Given the description of an element on the screen output the (x, y) to click on. 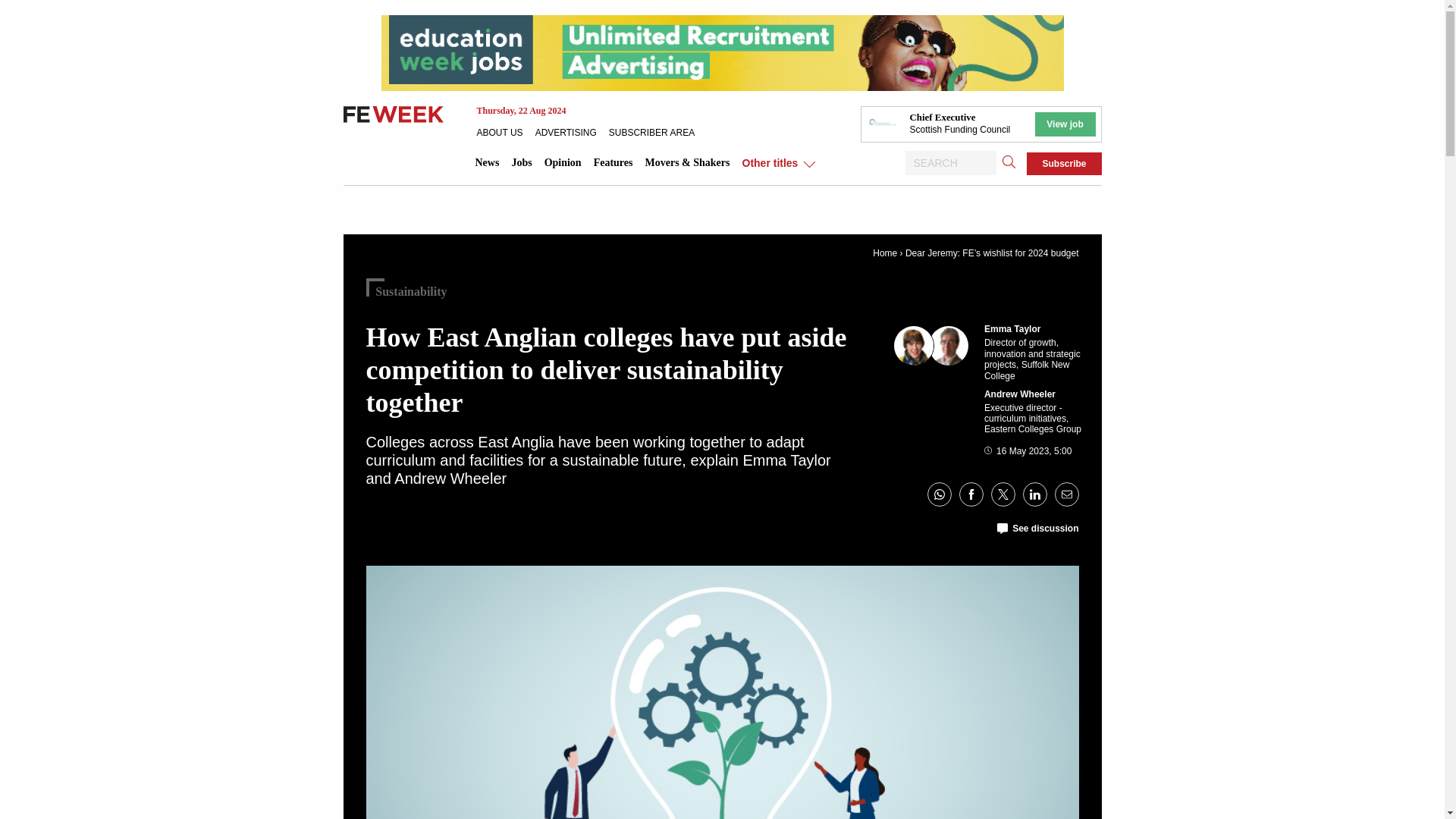
View job (1063, 124)
News (486, 162)
SUBSCRIBER AREA (657, 132)
ADVERTISING (571, 132)
ABOUT US (505, 132)
Home (884, 253)
